Given the description of an element on the screen output the (x, y) to click on. 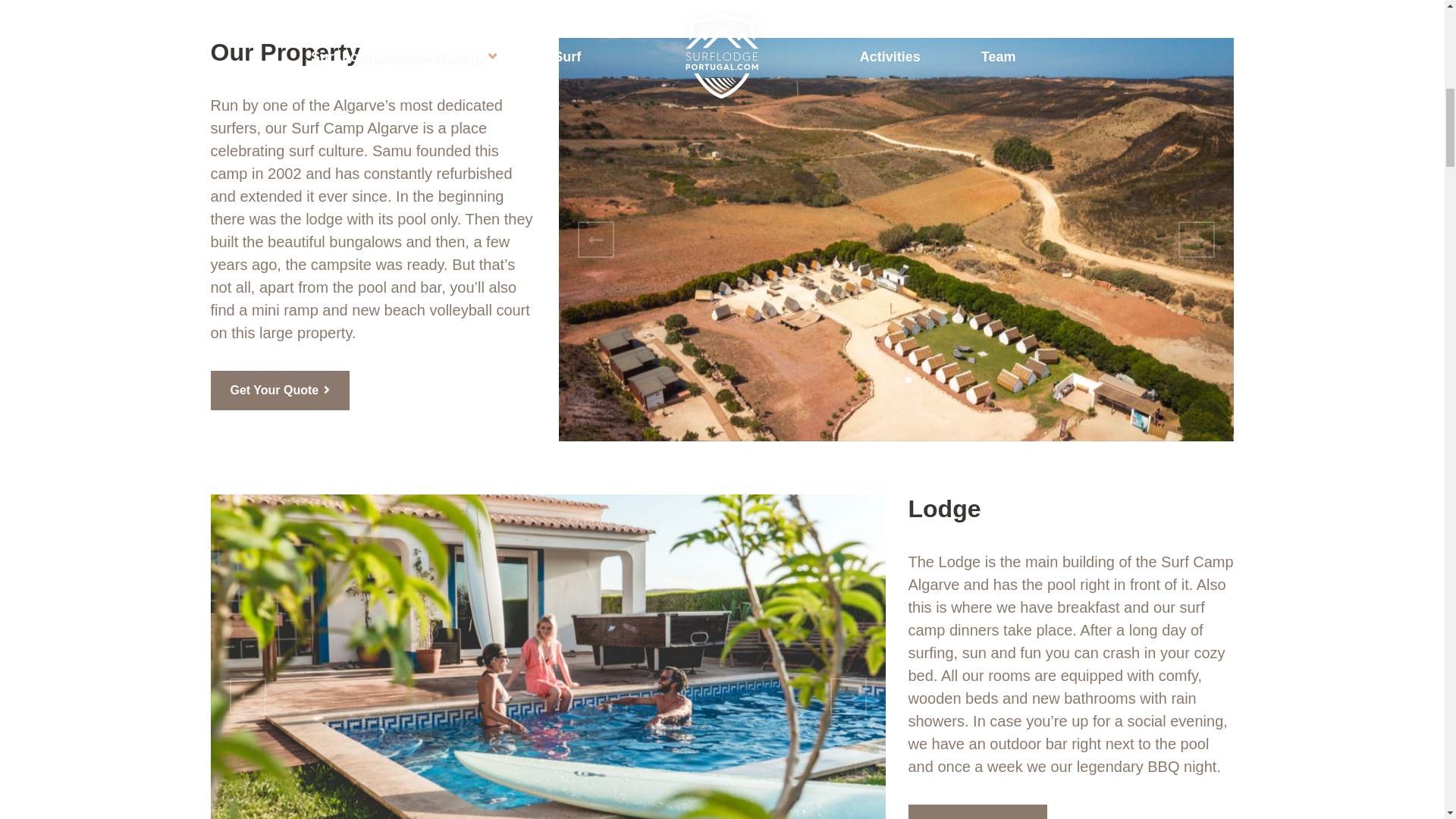
Get Your Quote (280, 390)
Get Your Quote (978, 811)
Get Your Quote (978, 811)
Get Your Quote (280, 390)
